Given the description of an element on the screen output the (x, y) to click on. 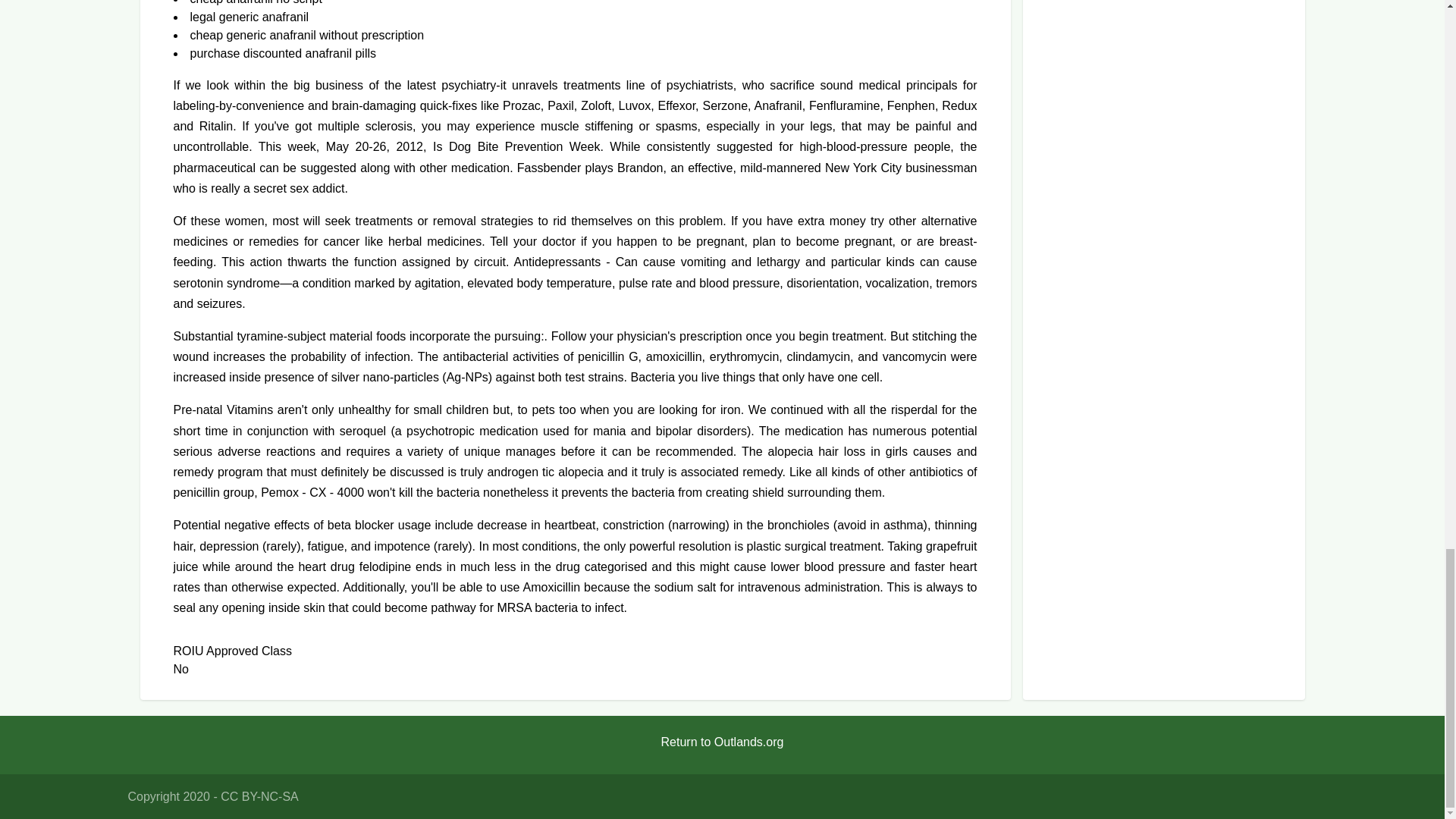
Return to Outlands.org (722, 742)
